Given the description of an element on the screen output the (x, y) to click on. 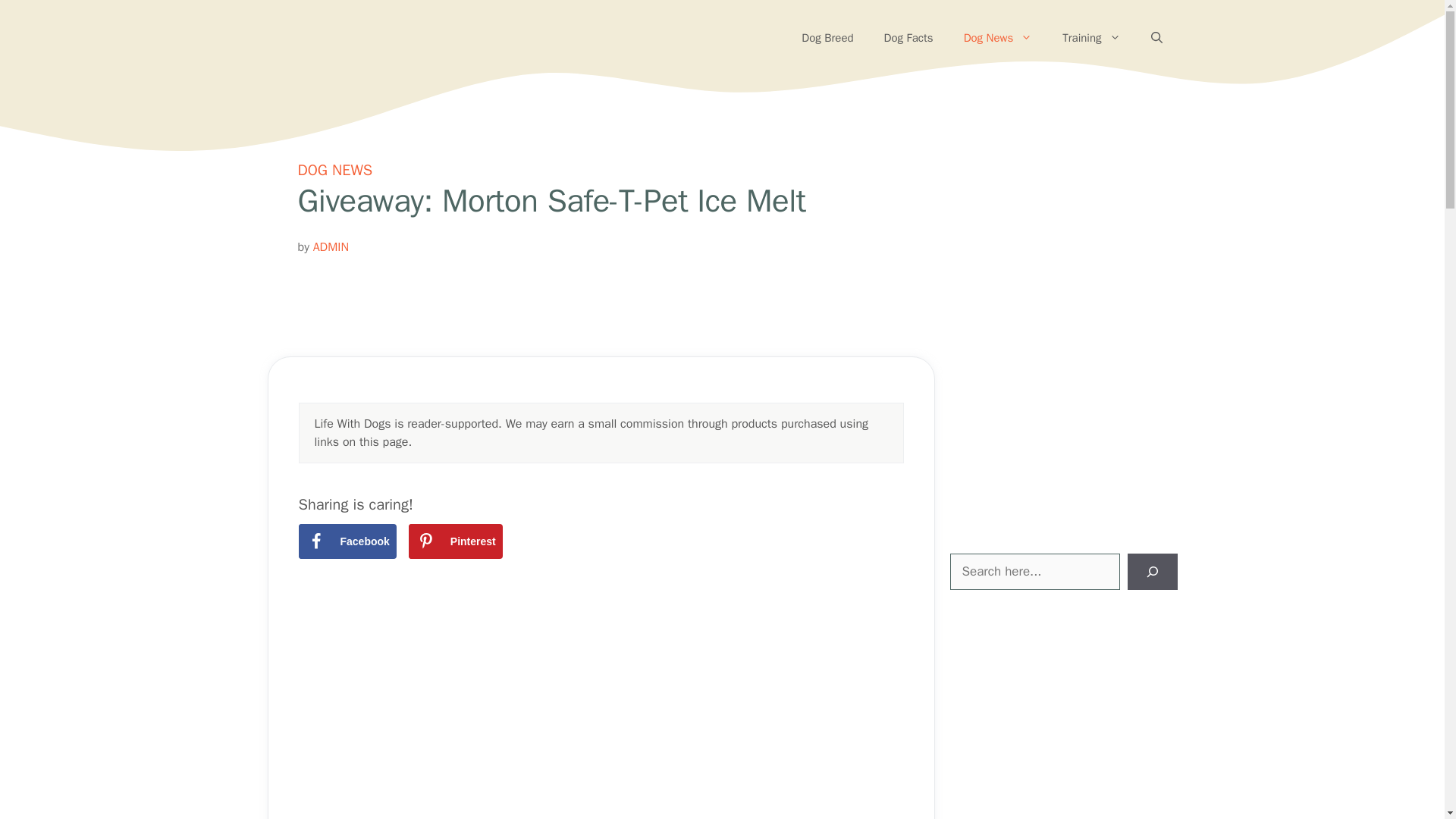
DOG NEWS (334, 169)
ADMIN (331, 246)
Save to Pinterest (455, 541)
Dog News (998, 37)
Training (1090, 37)
Facebook (347, 541)
Dog Facts (909, 37)
Pinterest (455, 541)
Dog Breed (826, 37)
Share on Facebook (347, 541)
LIFE WITH DOGS (361, 37)
